Given the description of an element on the screen output the (x, y) to click on. 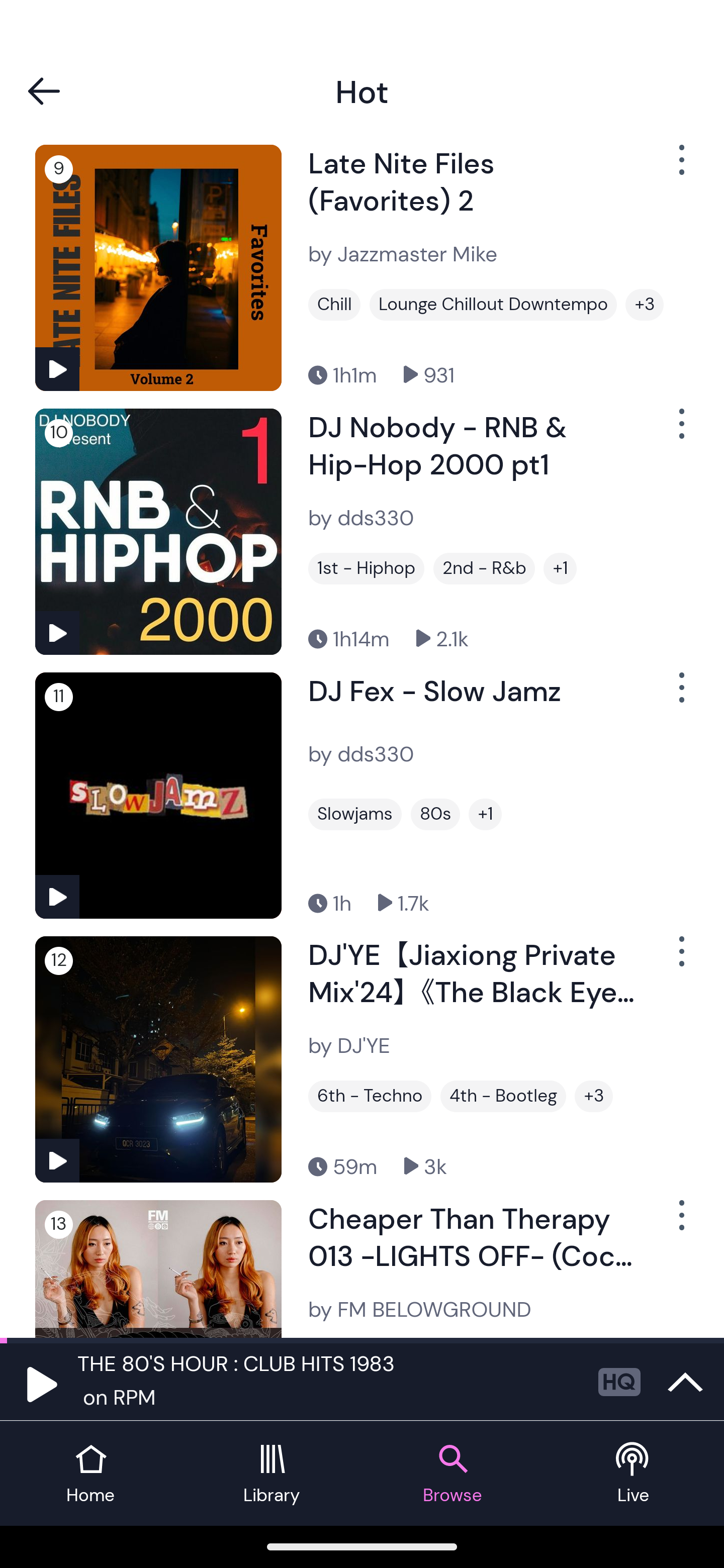
Show Options Menu Button (679, 166)
Chill (334, 303)
Lounge Chillout Downtempo (492, 303)
Show Options Menu Button (679, 431)
1st - Hiphop (366, 568)
2nd - R&b (484, 568)
Show Options Menu Button (679, 695)
Slowjams (354, 813)
80s (434, 813)
Show Options Menu Button (679, 958)
6th - Techno (369, 1095)
4th - Bootleg (503, 1095)
Show Options Menu Button (679, 1222)
Home tab Home (90, 1473)
Library tab Library (271, 1473)
Browse tab Browse (452, 1473)
Live tab Live (633, 1473)
